Given the description of an element on the screen output the (x, y) to click on. 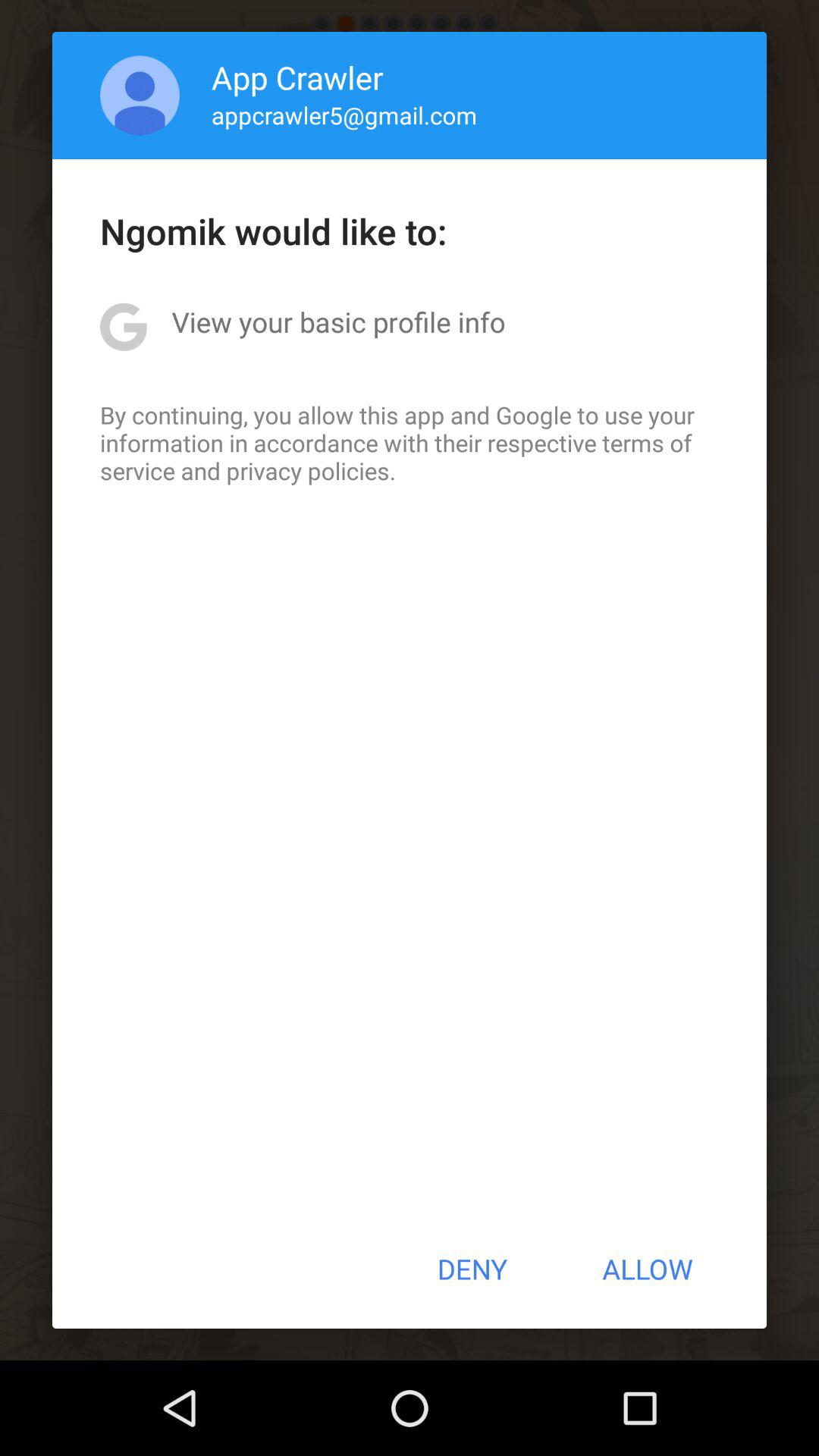
tap the icon above the appcrawler5@gmail.com item (297, 76)
